Given the description of an element on the screen output the (x, y) to click on. 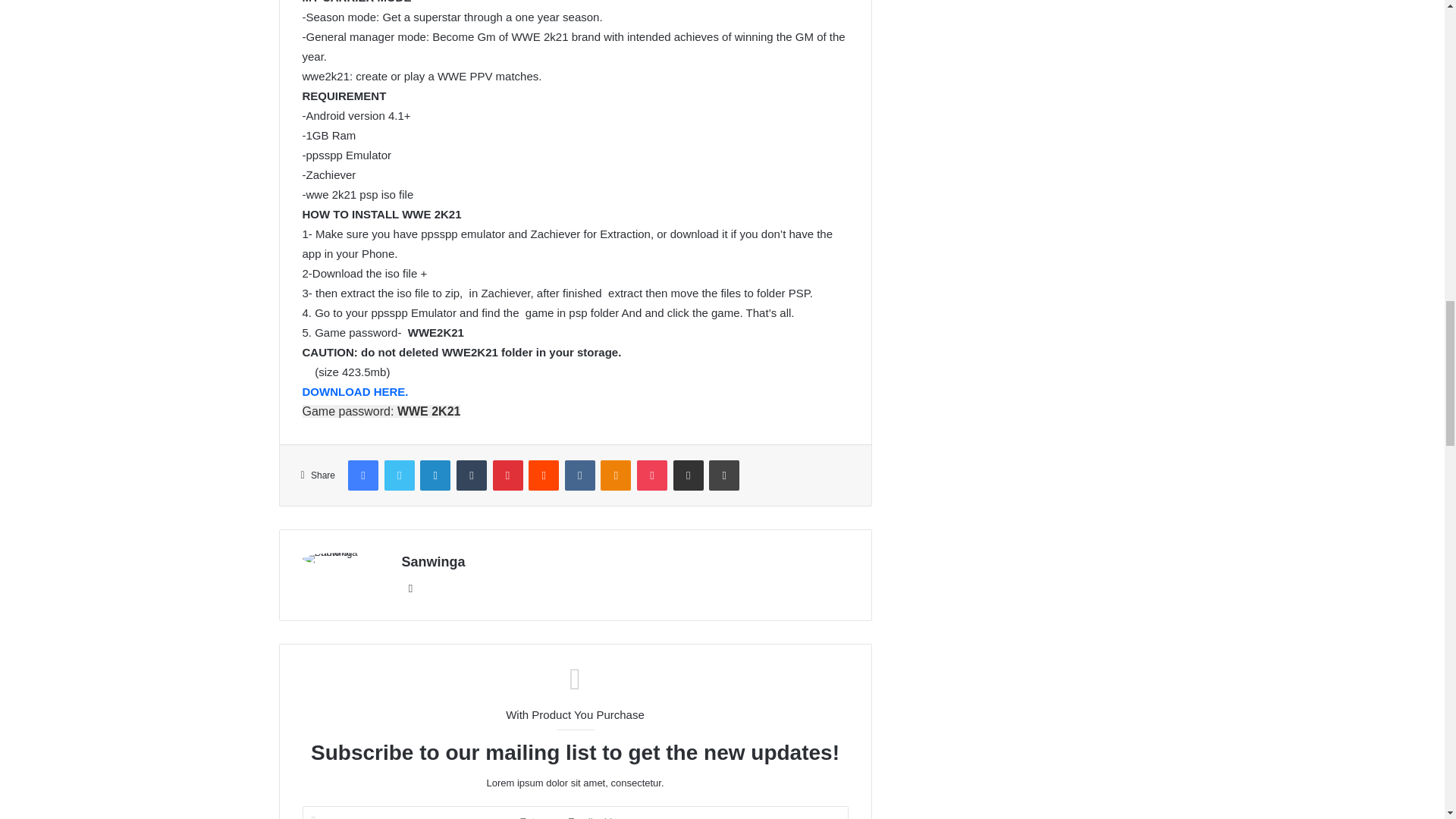
DOWNLOAD HERE.  (355, 391)
